Given the description of an element on the screen output the (x, y) to click on. 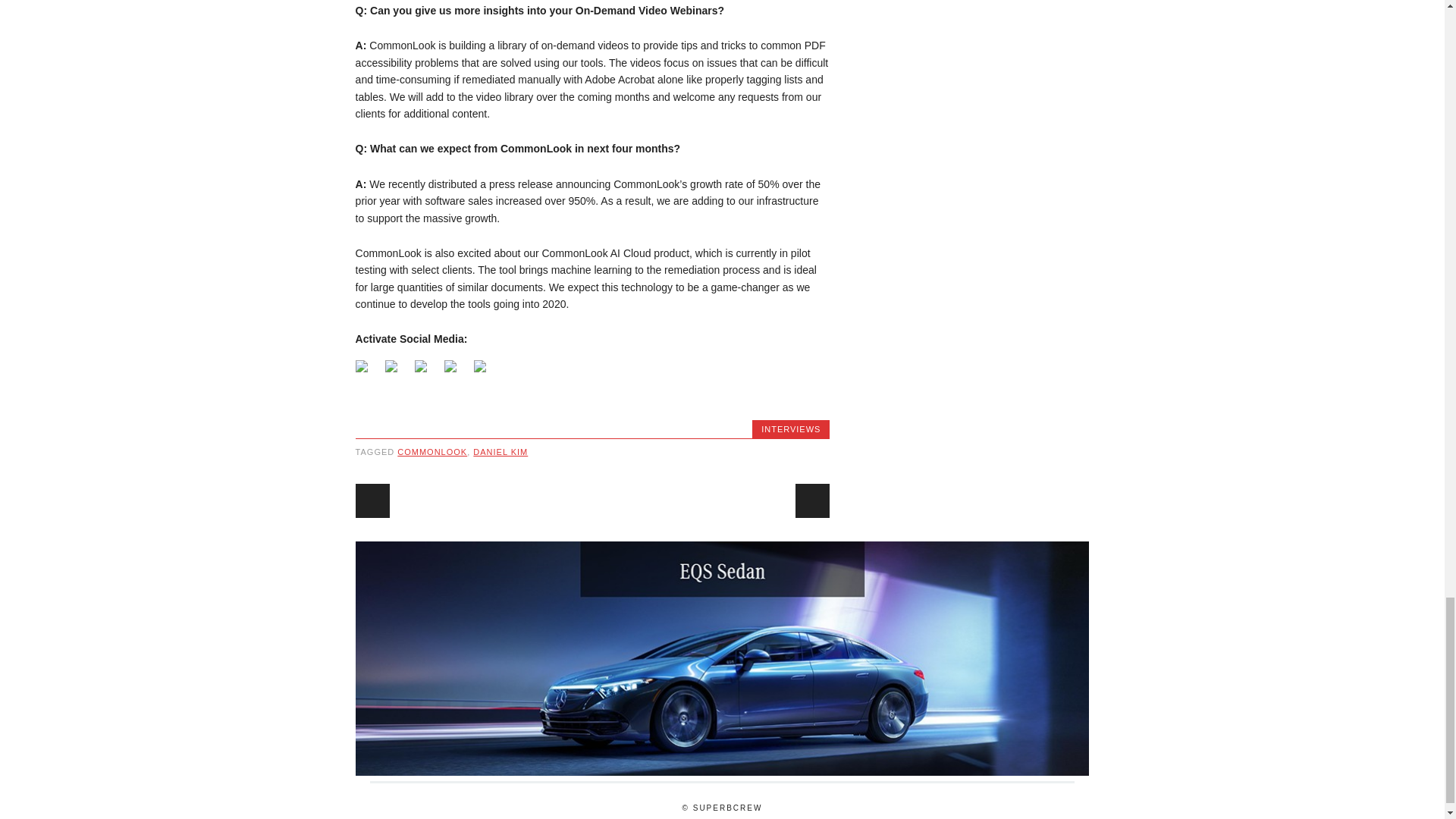
Share on Twitter (394, 369)
Share on Reddit (420, 366)
Pin it with Pinterest (453, 369)
INTERVIEWS (791, 429)
Share on Linkedin (483, 369)
Share on Reddit (423, 369)
COMMONLOOK (432, 451)
Share on Linkedin (480, 366)
DANIEL KIM (500, 451)
Share on Twitter (391, 366)
